Given the description of an element on the screen output the (x, y) to click on. 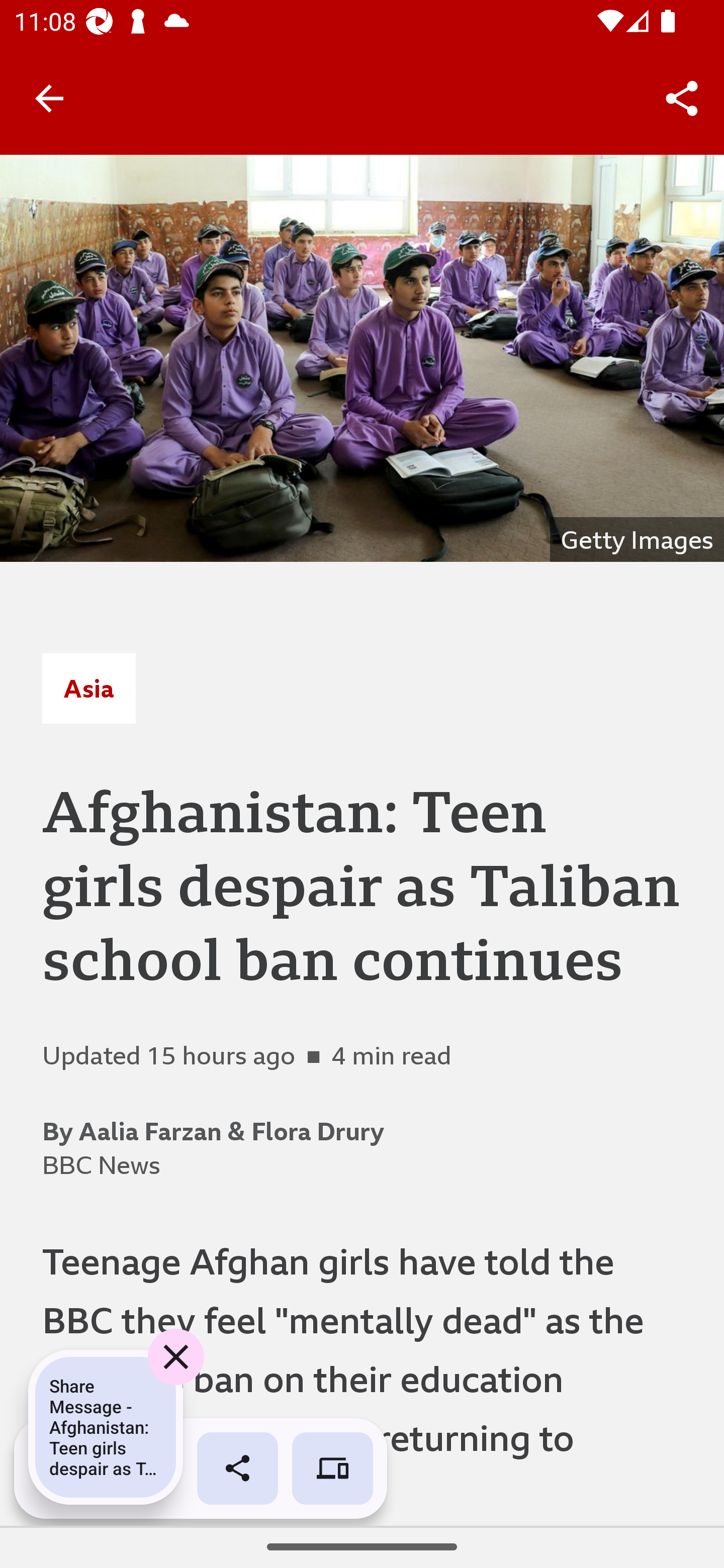
Back (49, 97)
Share (681, 98)
Asia (88, 688)
